Given the description of an element on the screen output the (x, y) to click on. 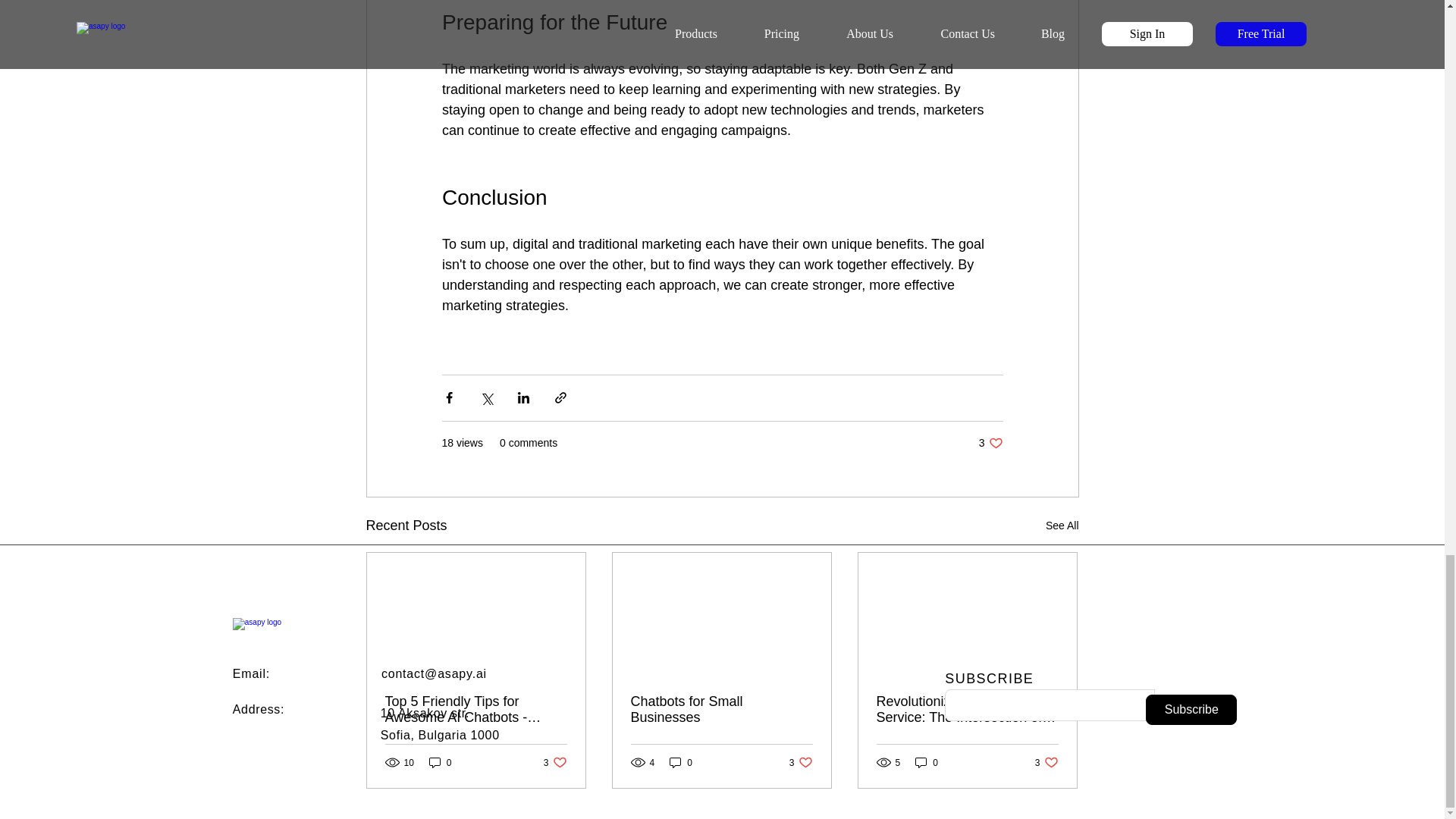
Chatbots for Small Businesses (721, 709)
See All (1061, 526)
0 (990, 442)
Address: (440, 762)
0 (257, 708)
Subscribe (1046, 762)
0 (681, 762)
